Given the description of an element on the screen output the (x, y) to click on. 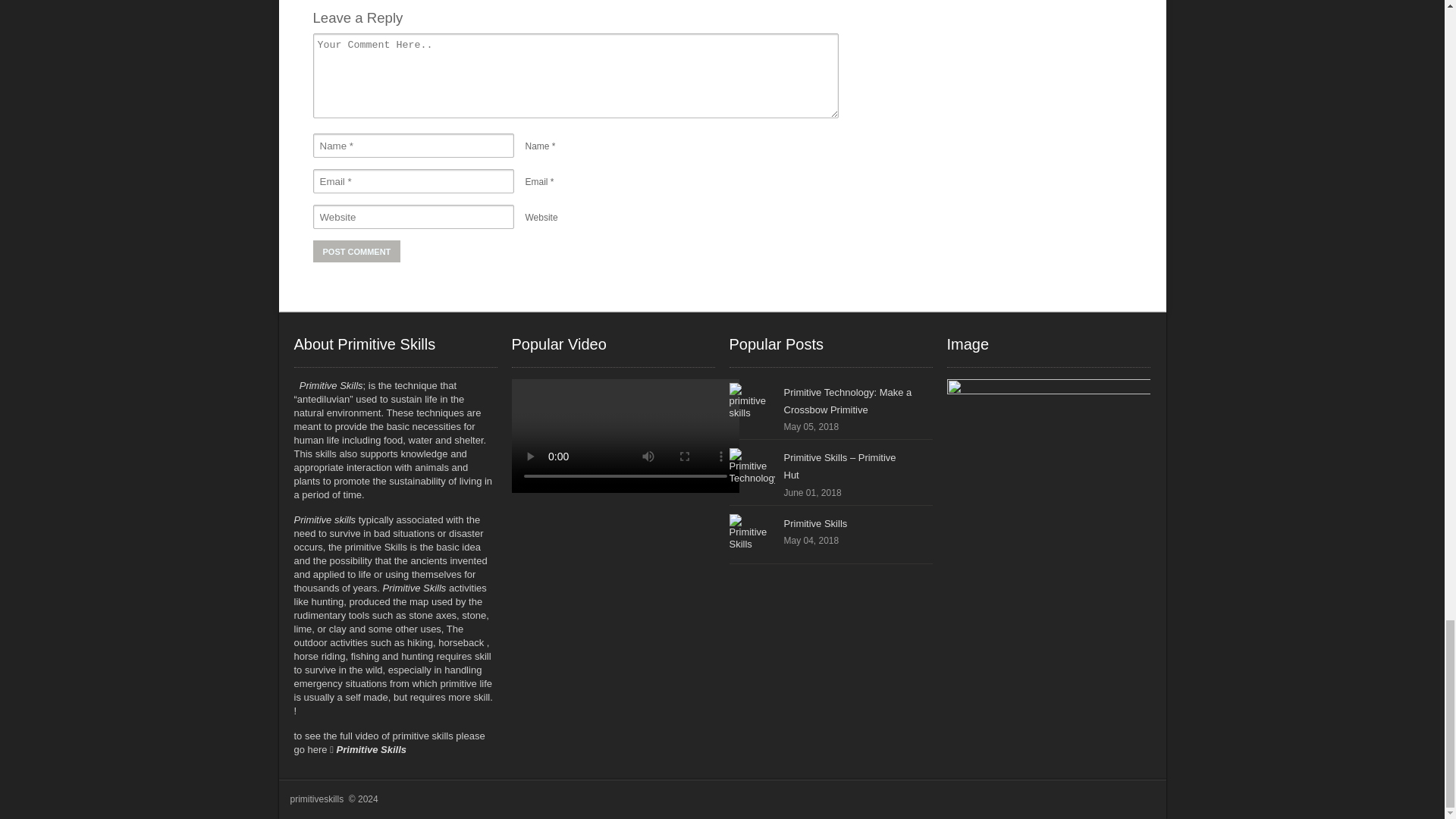
Post Comment (356, 251)
Primitive Skills (751, 536)
Primitive Technology: Make a Crossbow Primitive (751, 405)
Post Comment (356, 251)
Primitive Skills (815, 523)
Primitive Technology: Make a Crossbow Primitive (848, 400)
